Given the description of an element on the screen output the (x, y) to click on. 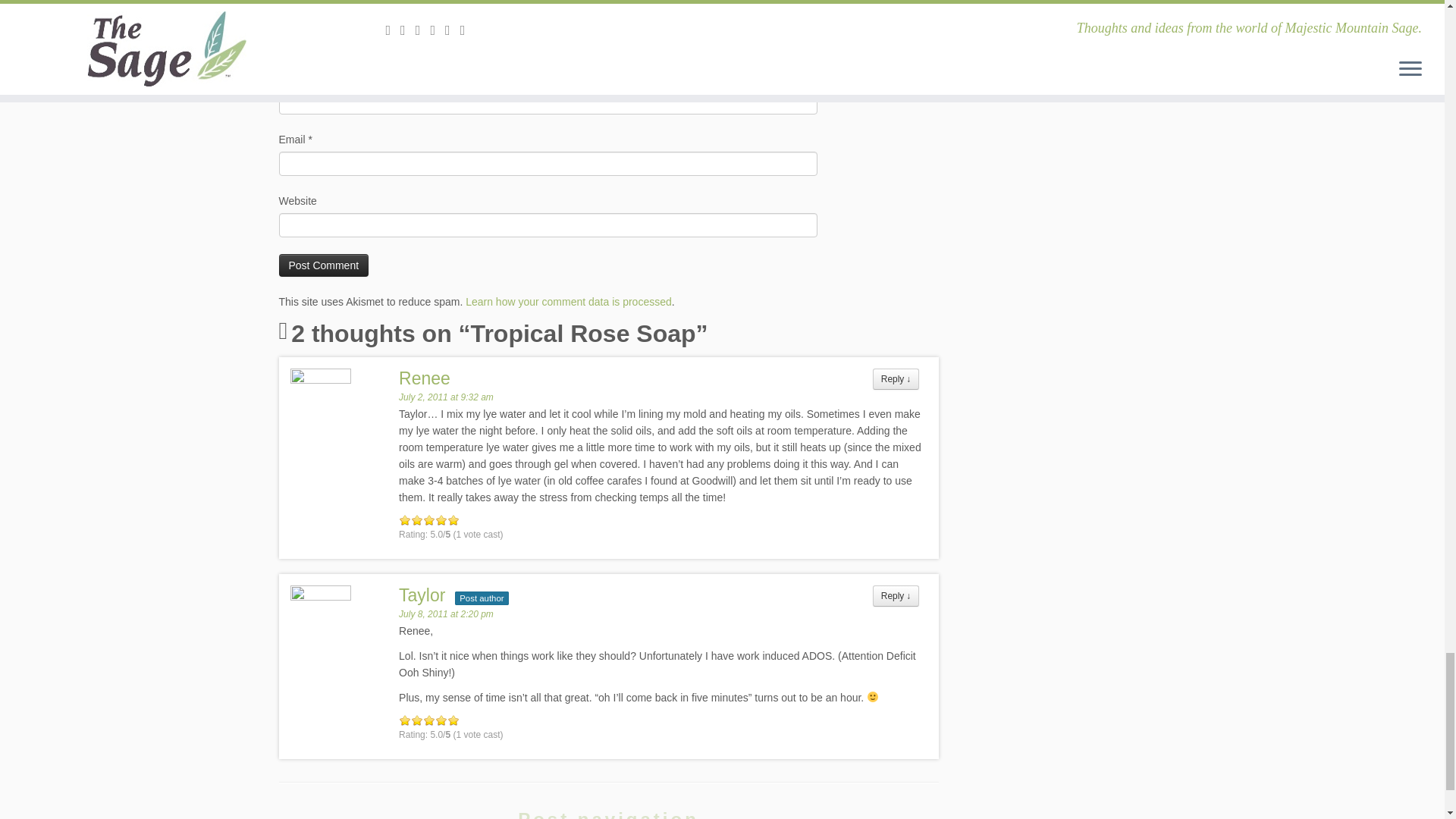
Post Comment (324, 264)
